Given the description of an element on the screen output the (x, y) to click on. 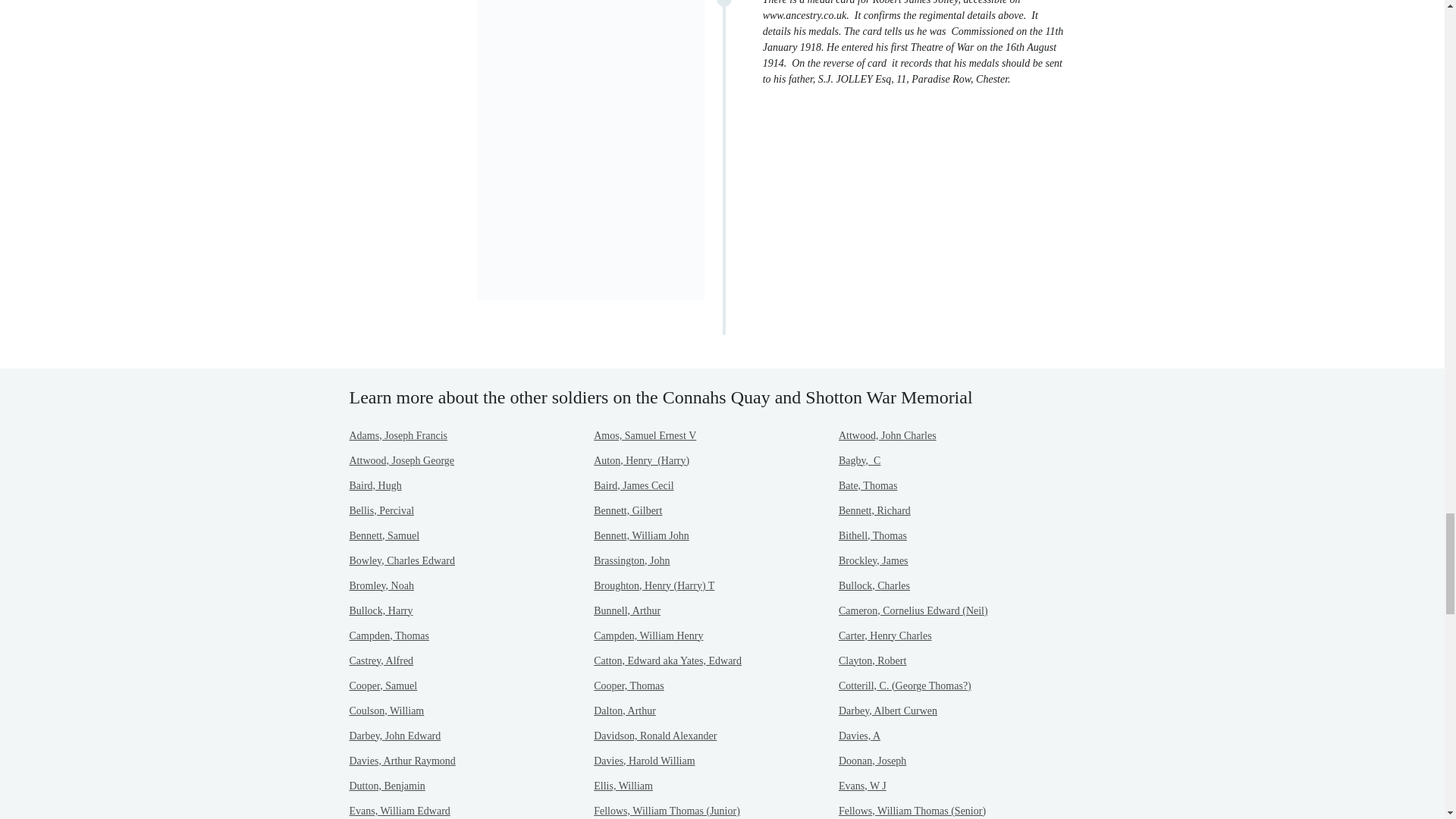
Attwood, John Charles (887, 435)
Attwood, Joseph George (401, 460)
Bagby,  C (859, 460)
Adams, Joseph Francis (397, 435)
Amos, Samuel Ernest V (644, 435)
Baird, Hugh (375, 485)
